Given the description of an element on the screen output the (x, y) to click on. 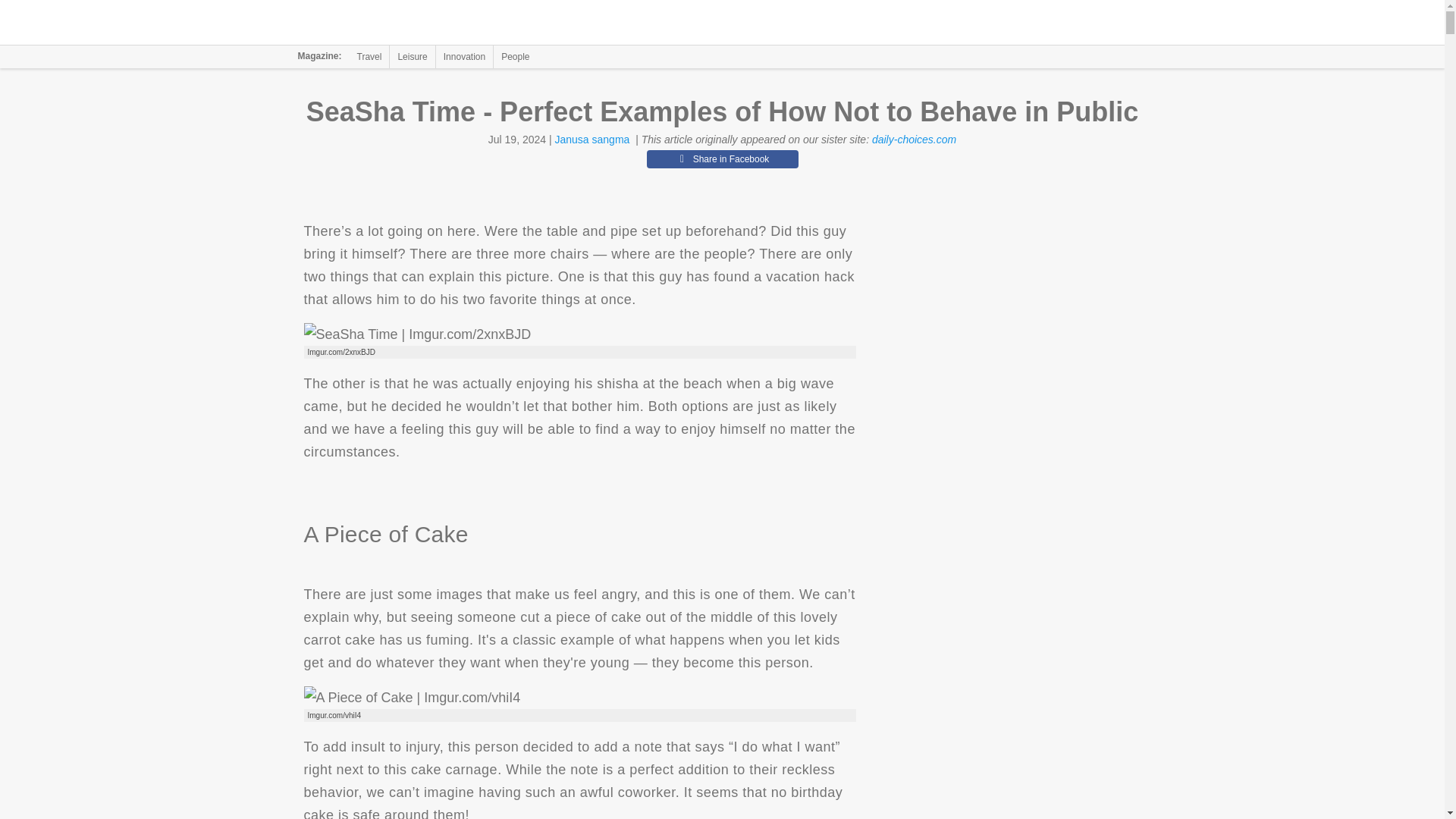
daily-choices.com (914, 139)
A Piece of Cake (410, 697)
Janusa sangma (592, 139)
Innovation (464, 56)
Share in Facebook (721, 158)
The Jerusalem Post Magazine (391, 22)
SeaSha Time (416, 333)
People (515, 56)
Travel (369, 56)
Leisure (411, 56)
